Given the description of an element on the screen output the (x, y) to click on. 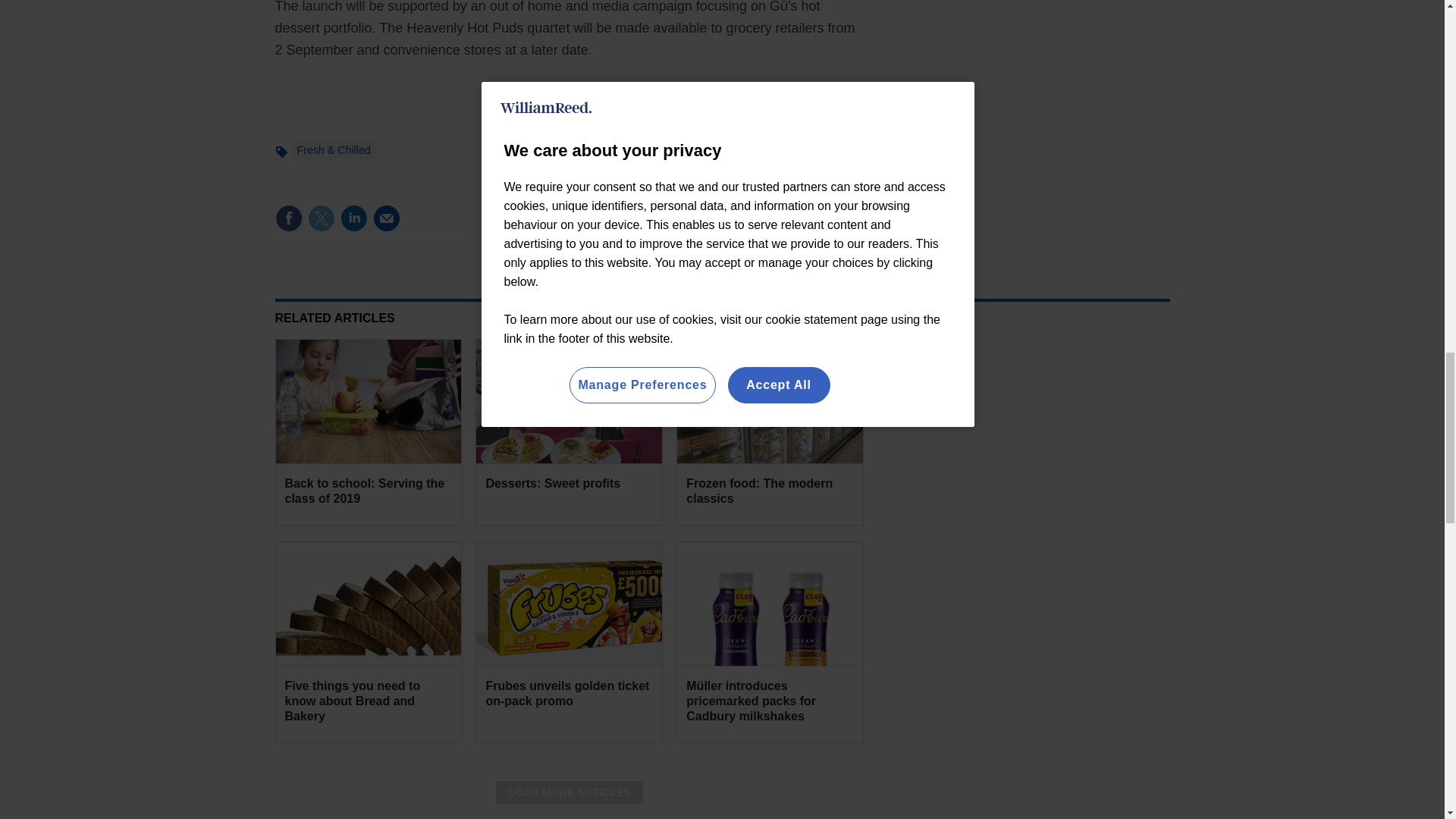
3rd party ad content (1055, 433)
Email this article (386, 217)
Share this on Linked in (352, 217)
Share this on Facebook (288, 217)
Share this on Twitter (320, 217)
